Given the description of an element on the screen output the (x, y) to click on. 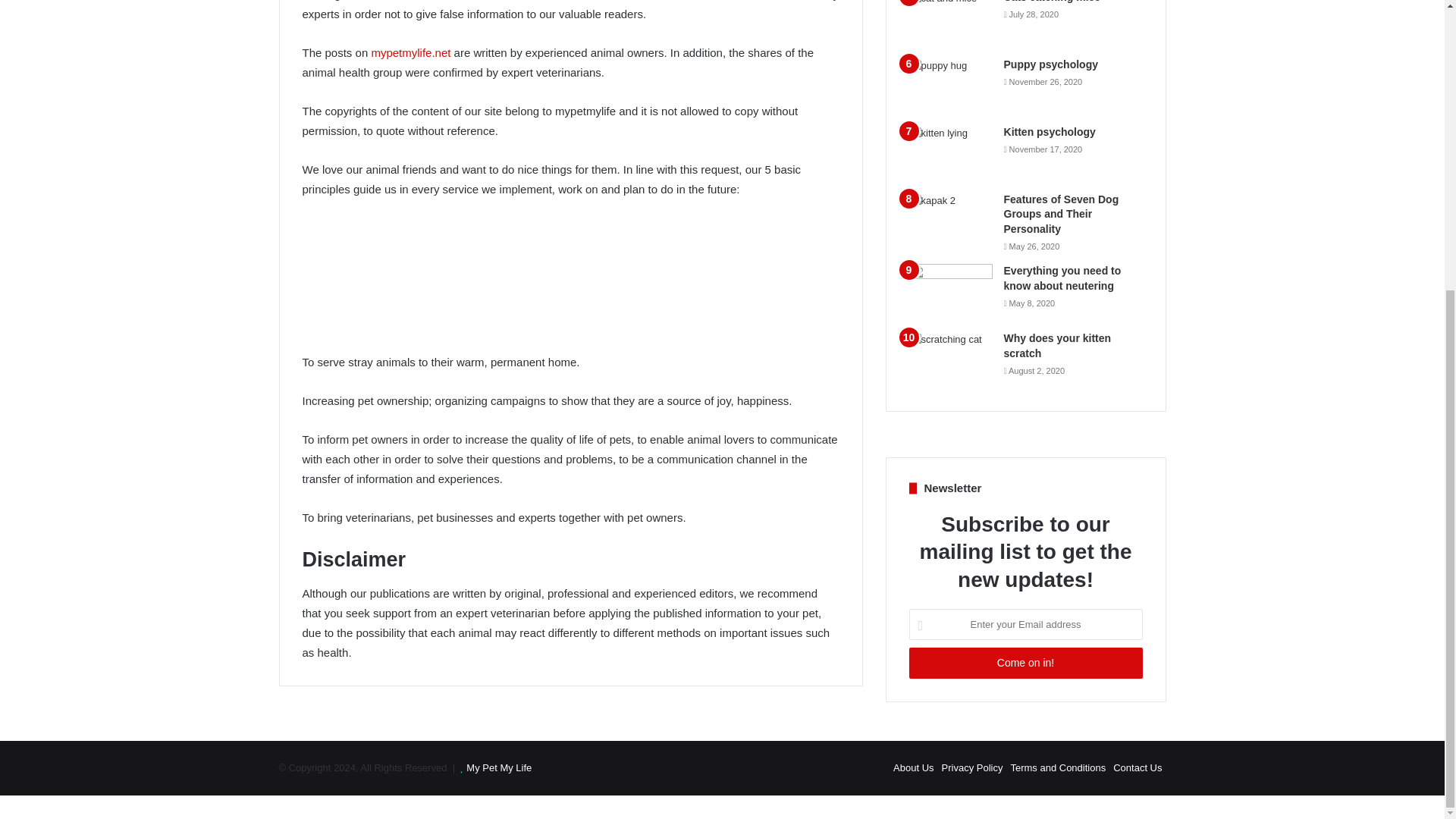
Kitten psychology (1050, 131)
Puppy psychology (1050, 64)
Why does your kitten scratch (1058, 345)
Come on in! (1025, 662)
Come on in! (1025, 662)
Advertisement (569, 285)
mypetmylife.net (410, 51)
Puppy psychology (1050, 64)
Cats catching mice (1052, 1)
Features of Seven Dog Groups and Their Personality (1061, 214)
